Given the description of an element on the screen output the (x, y) to click on. 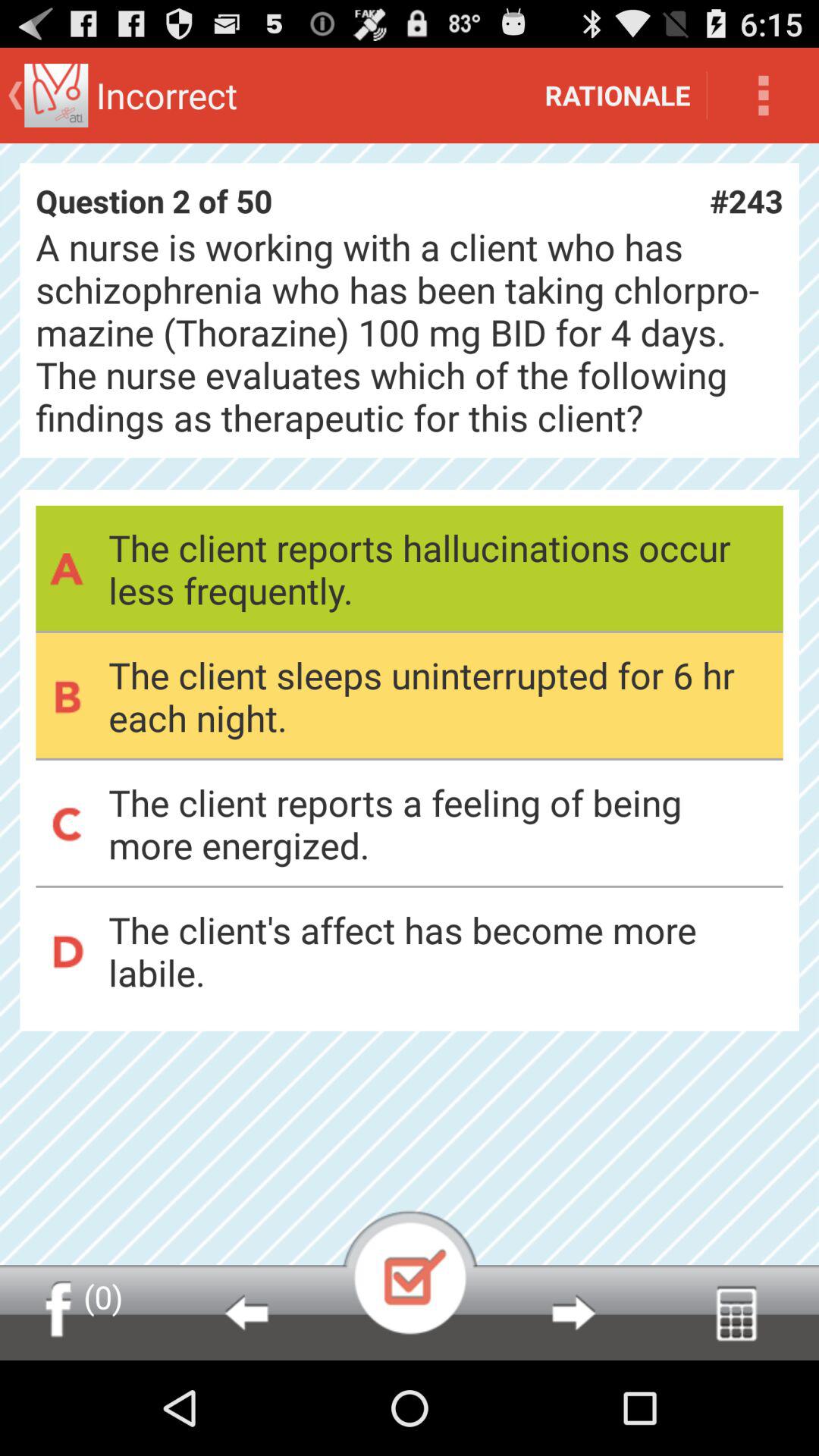
go to next box (573, 1312)
